Given the description of an element on the screen output the (x, y) to click on. 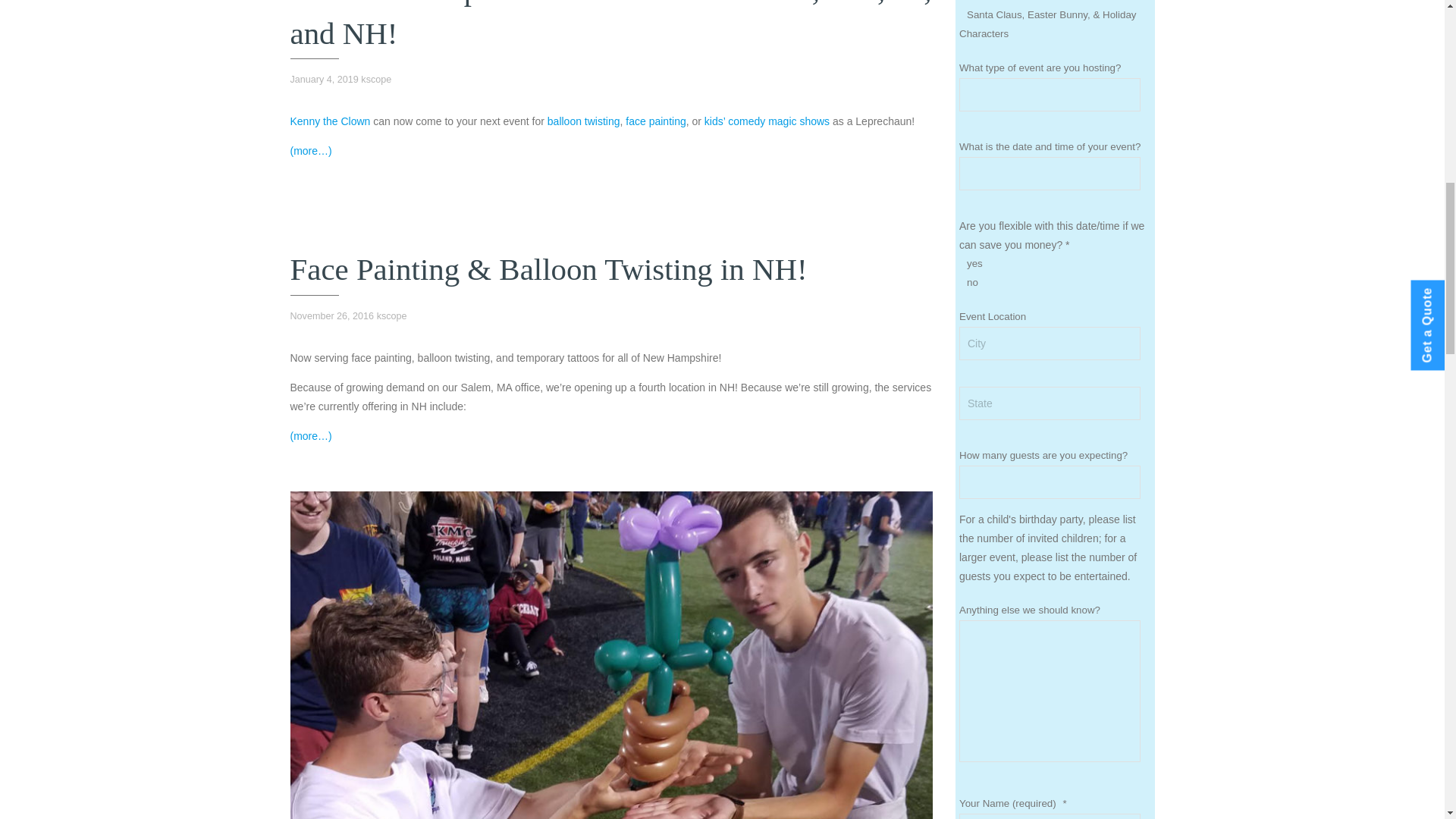
balloon twisting (583, 121)
face painting (655, 121)
State (1049, 403)
St Patricks Leprechaun Entertainers in CT, MA, RI, and NH! (610, 24)
Kenny the Clown (329, 121)
kscope (376, 79)
January 4, 2019 (323, 79)
City (1049, 343)
